Given the description of an element on the screen output the (x, y) to click on. 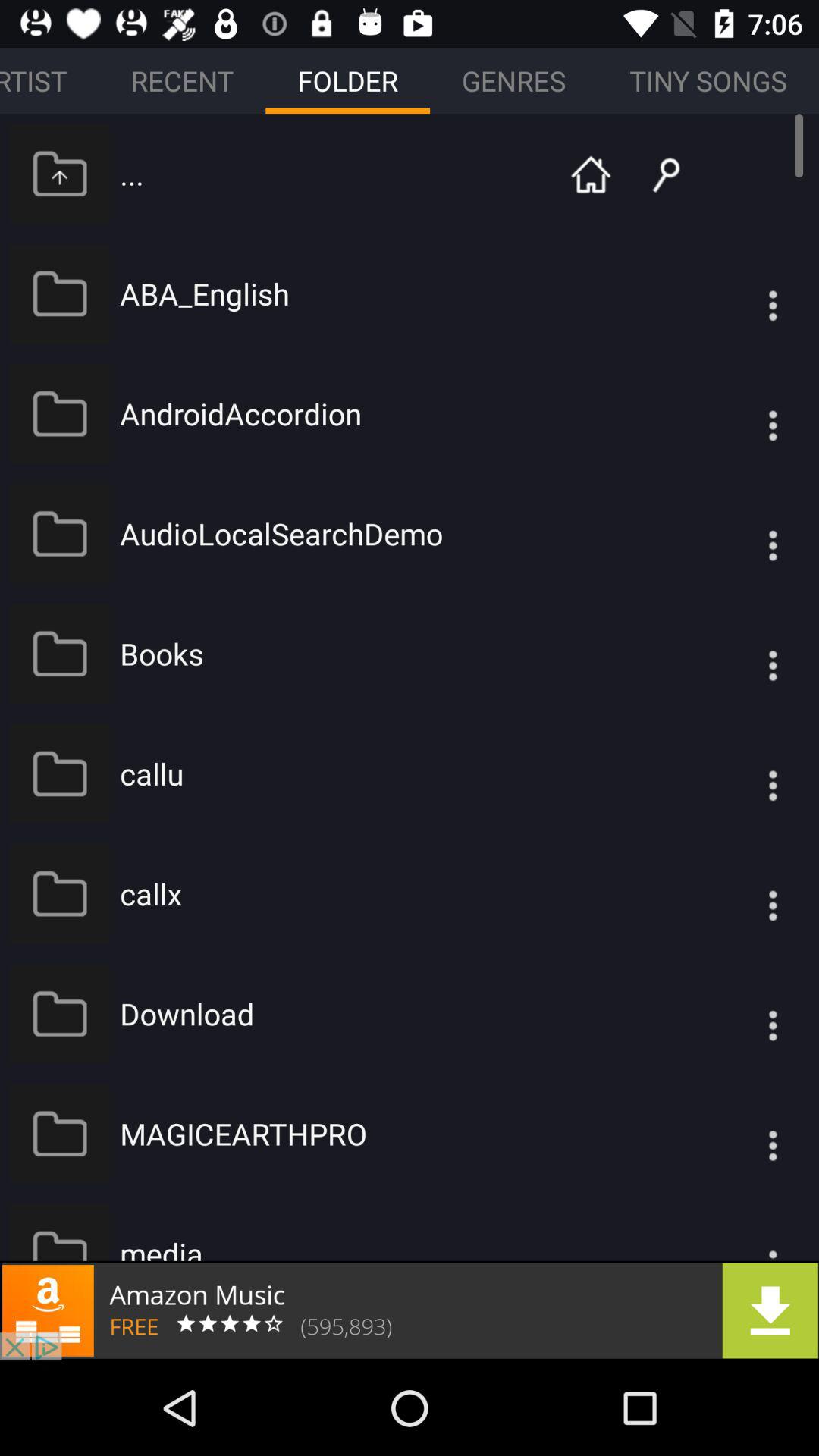
settings (742, 1230)
